Given the description of an element on the screen output the (x, y) to click on. 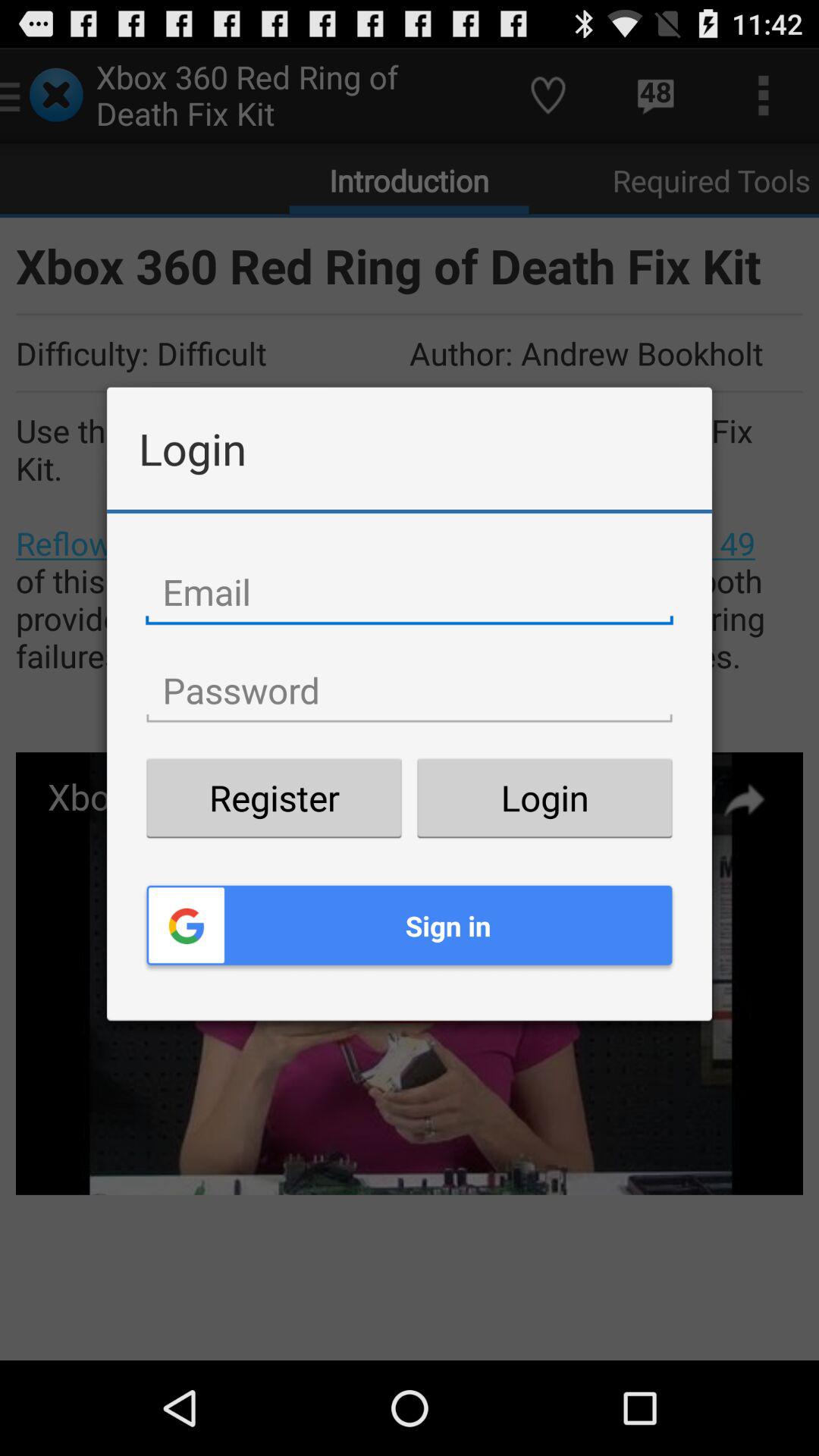
open the sign in item (409, 925)
